Given the description of an element on the screen output the (x, y) to click on. 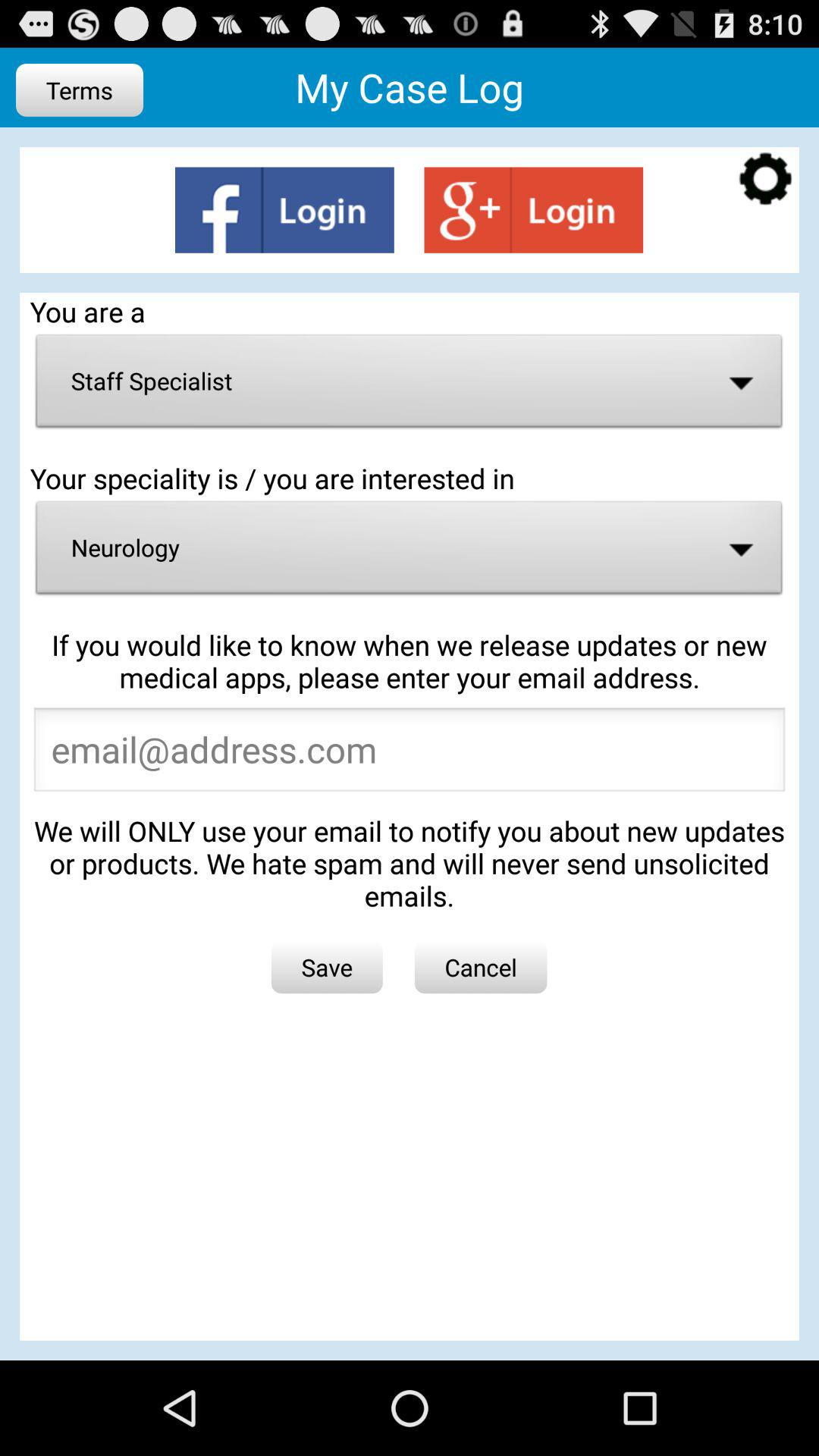
login using facebook (284, 210)
